Given the description of an element on the screen output the (x, y) to click on. 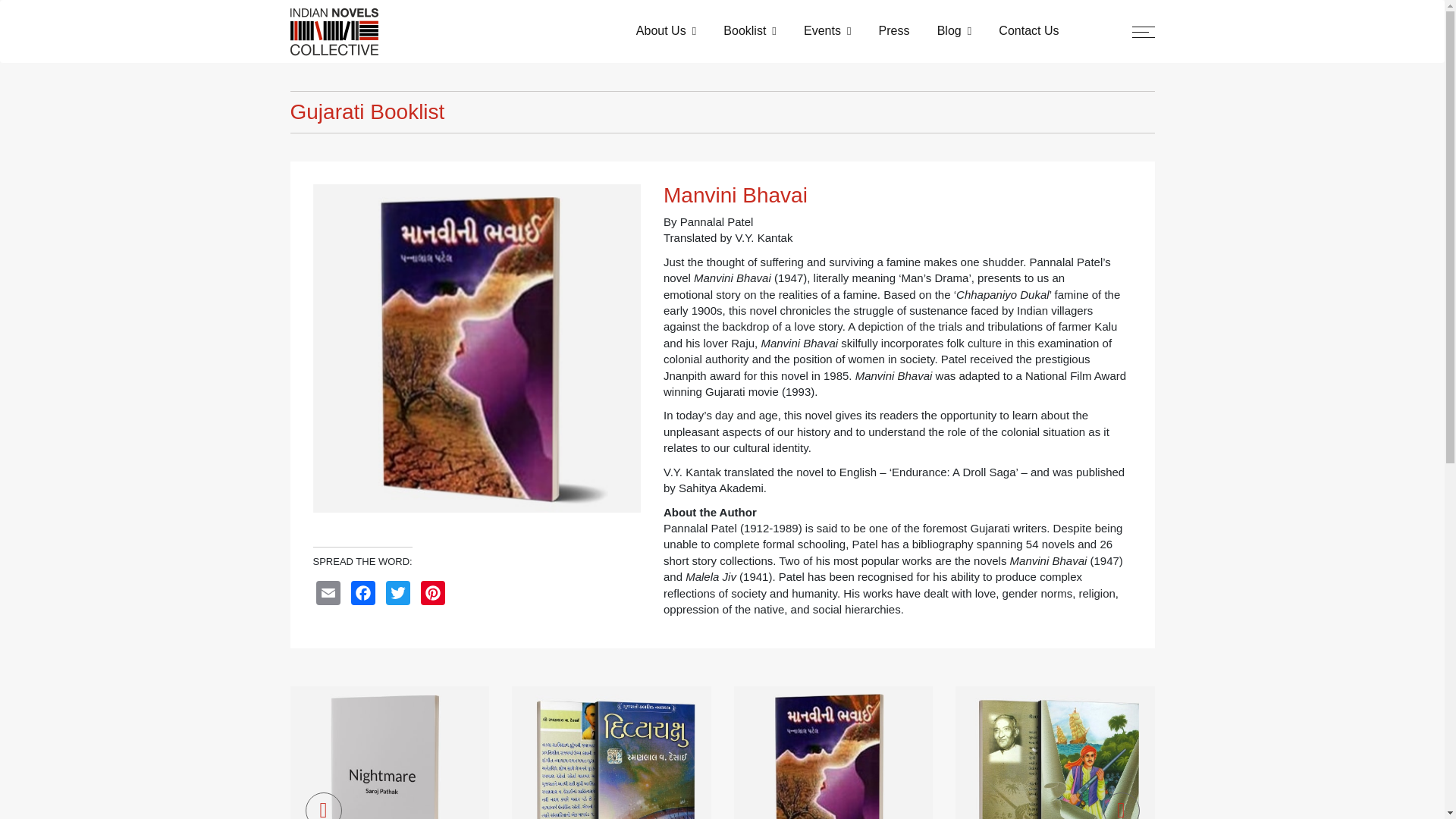
About Us (665, 30)
Booklist (750, 30)
Facebook (364, 594)
Contact Us (1028, 30)
Logo (333, 31)
Twitter (398, 594)
Gujarati Booklist (721, 111)
Email (330, 594)
Logo (333, 30)
Events (827, 30)
Pinterest (433, 594)
Blog (954, 30)
Email (330, 594)
Press (893, 30)
